Given the description of an element on the screen output the (x, y) to click on. 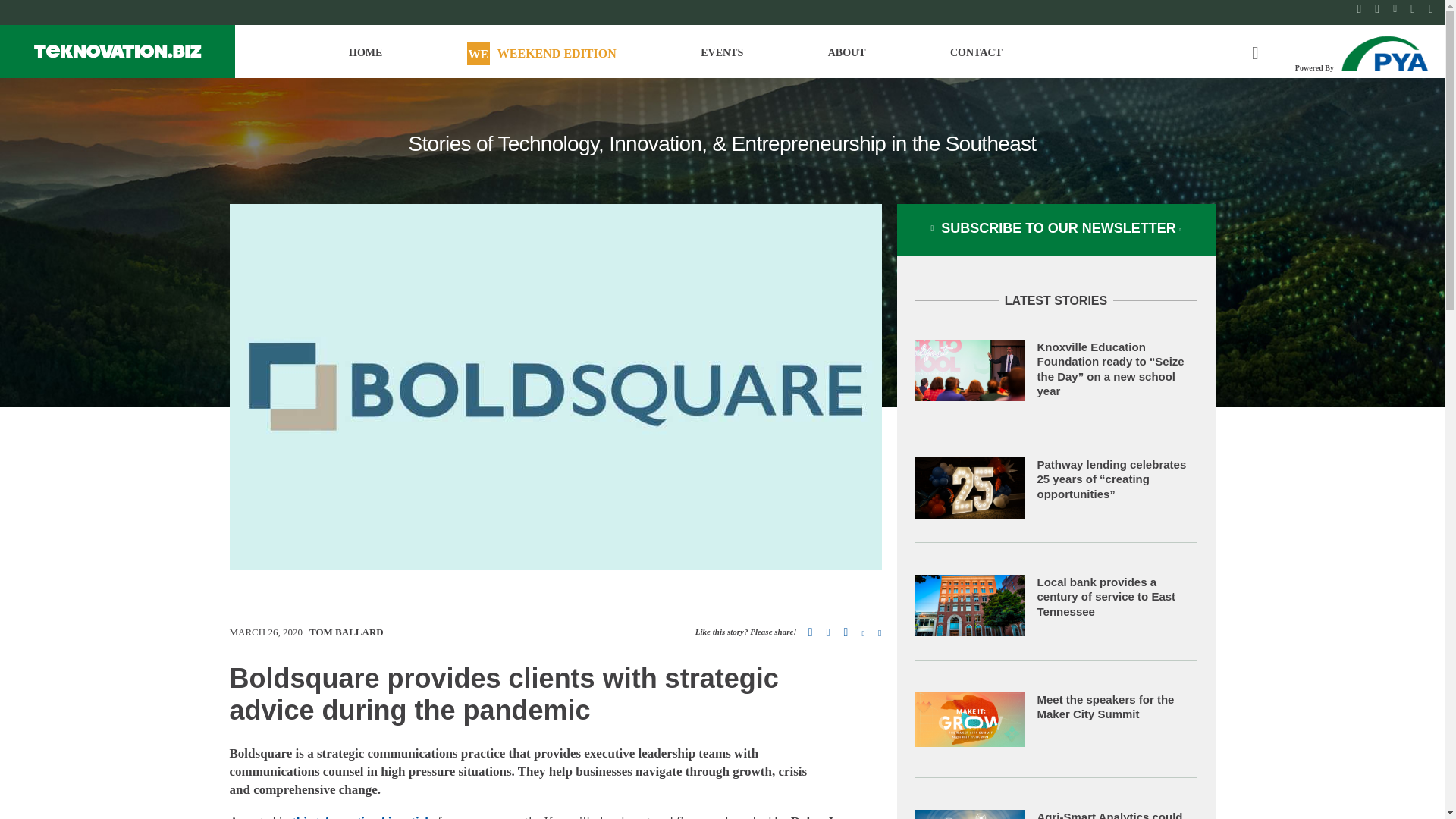
Powered By (1363, 51)
TOM BALLARD (346, 632)
Meet the speakers for the Maker City Summit (1105, 706)
HOME (365, 59)
this teknovation.biz article (362, 816)
CONTACT (976, 59)
EVENTS (721, 59)
WEEKEND EDITION (541, 59)
ABOUT (847, 59)
